Given the description of an element on the screen output the (x, y) to click on. 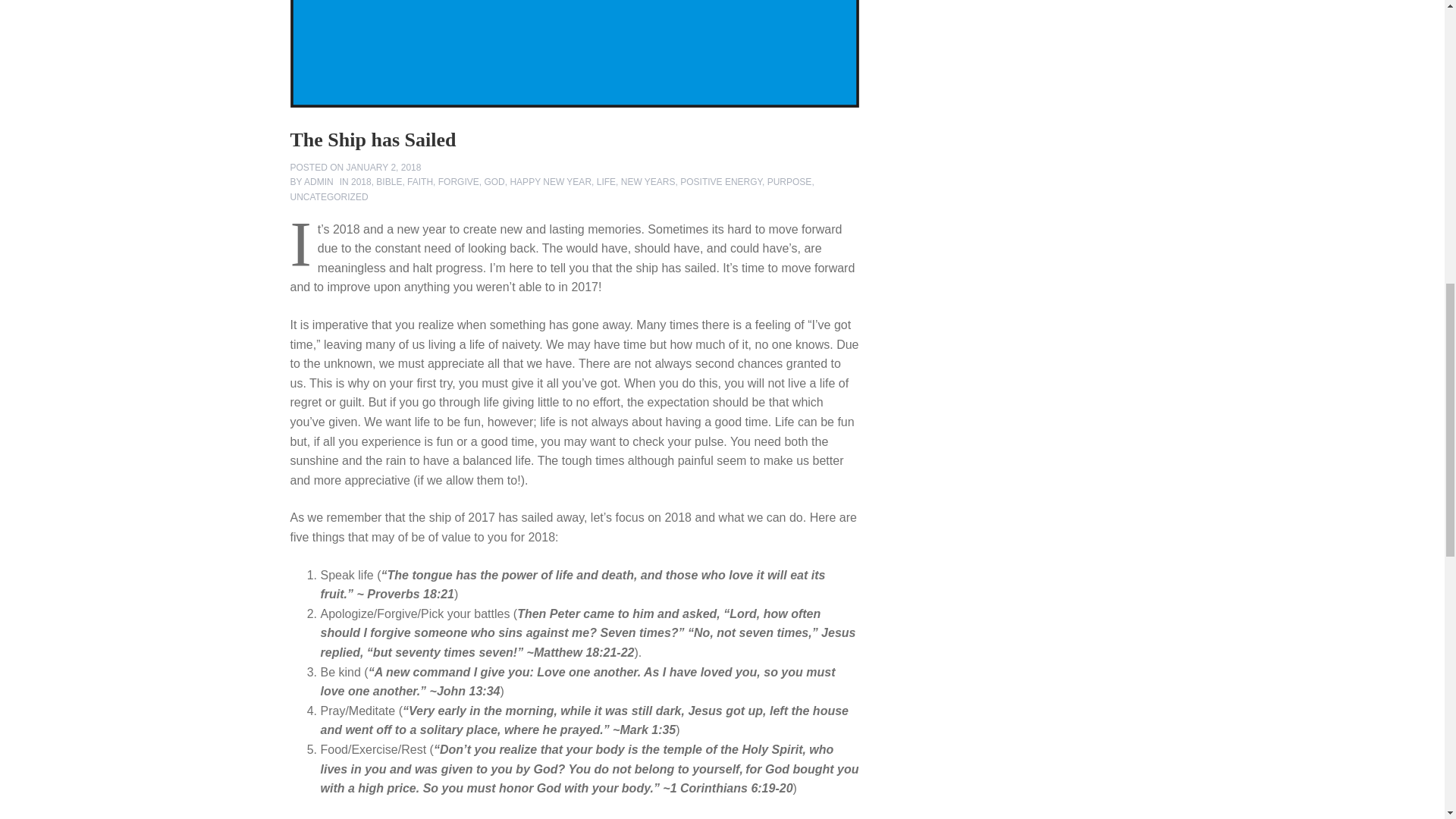
BIBLE (388, 181)
LIFE (605, 181)
PURPOSE (789, 181)
UNCATEGORIZED (328, 195)
JANUARY 2, 2018 (384, 167)
FAITH (419, 181)
FORGIVE (458, 181)
ADMIN (318, 181)
NEW YEARS (648, 181)
HAPPY NEW YEAR (550, 181)
POSITIVE ENERGY (720, 181)
2018 (360, 181)
GOD (493, 181)
